Given the description of an element on the screen output the (x, y) to click on. 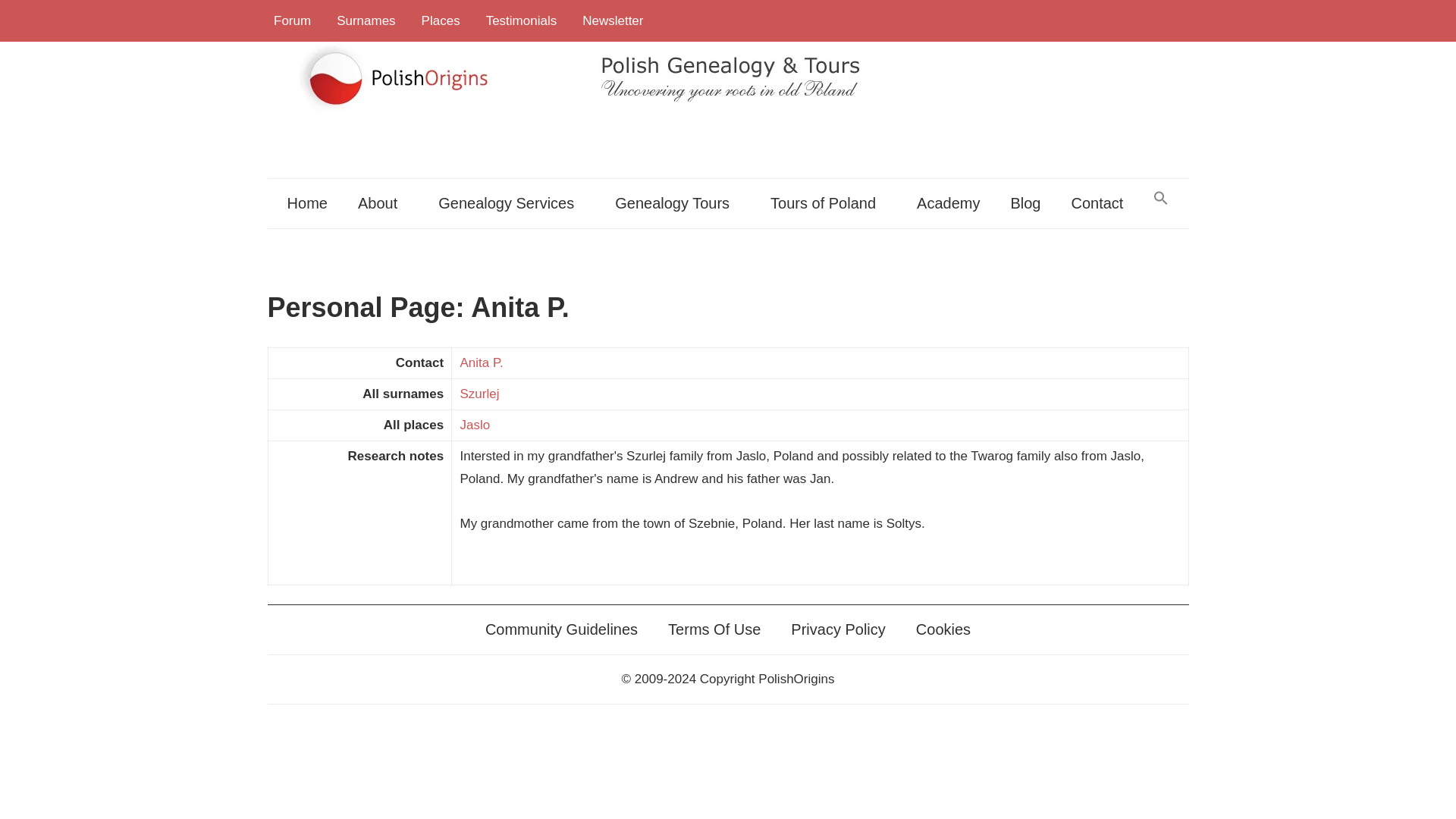
Surnames (365, 20)
Academy (947, 203)
Home (307, 203)
Tours of Poland (828, 203)
Testimonials (521, 20)
LinkedIn (1140, 20)
Places (441, 20)
Blog (1024, 203)
Facebook (1031, 20)
About (382, 203)
